Given the description of an element on the screen output the (x, y) to click on. 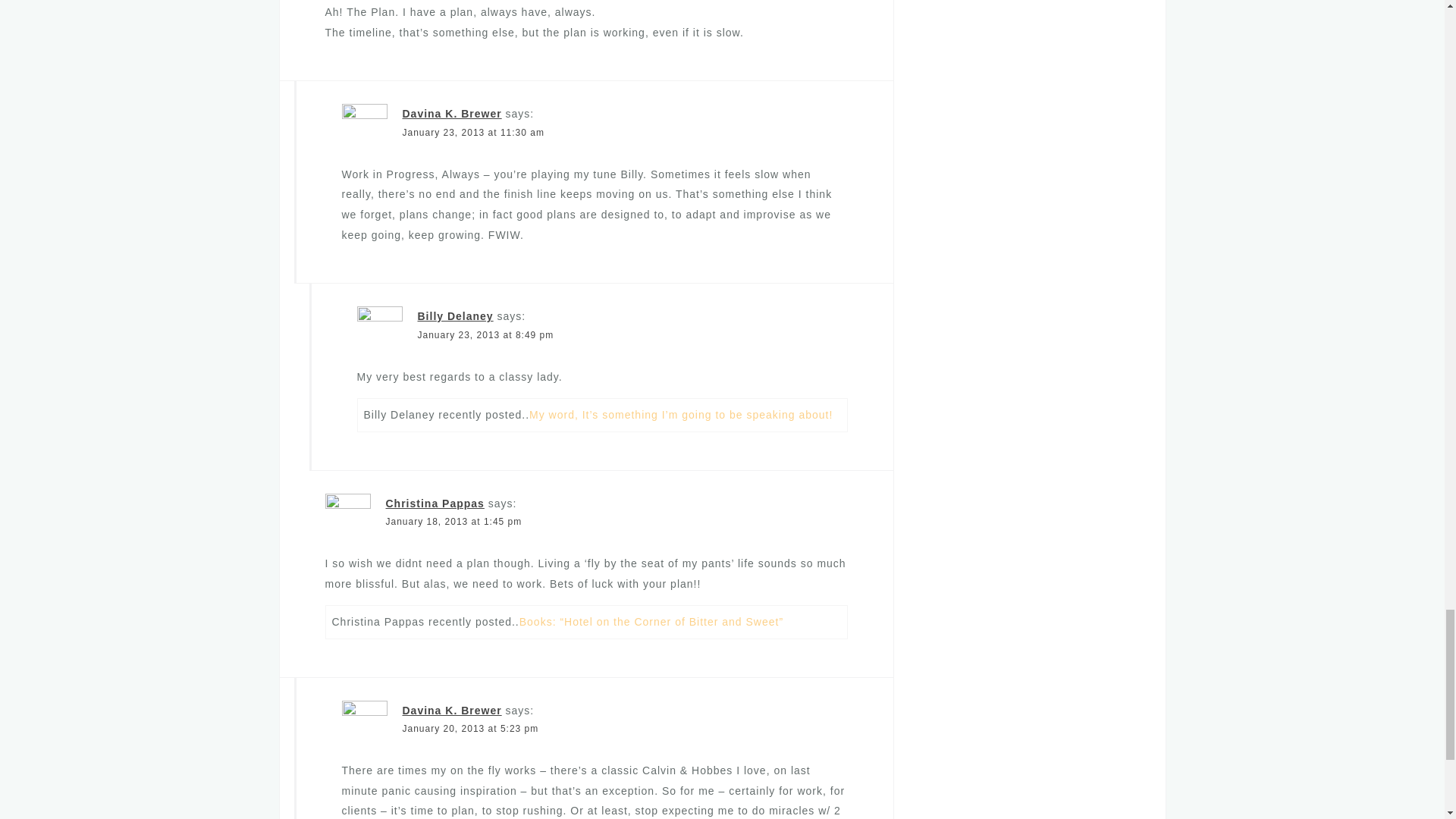
Davina K. Brewer (450, 710)
January 23, 2013 at 11:30 am (472, 132)
Billy Delaney (454, 316)
Davina K. Brewer (450, 113)
January 23, 2013 at 8:49 pm (484, 335)
January 20, 2013 at 5:23 pm (469, 728)
Christina Pappas (434, 503)
January 18, 2013 at 1:45 pm (453, 521)
